Given the description of an element on the screen output the (x, y) to click on. 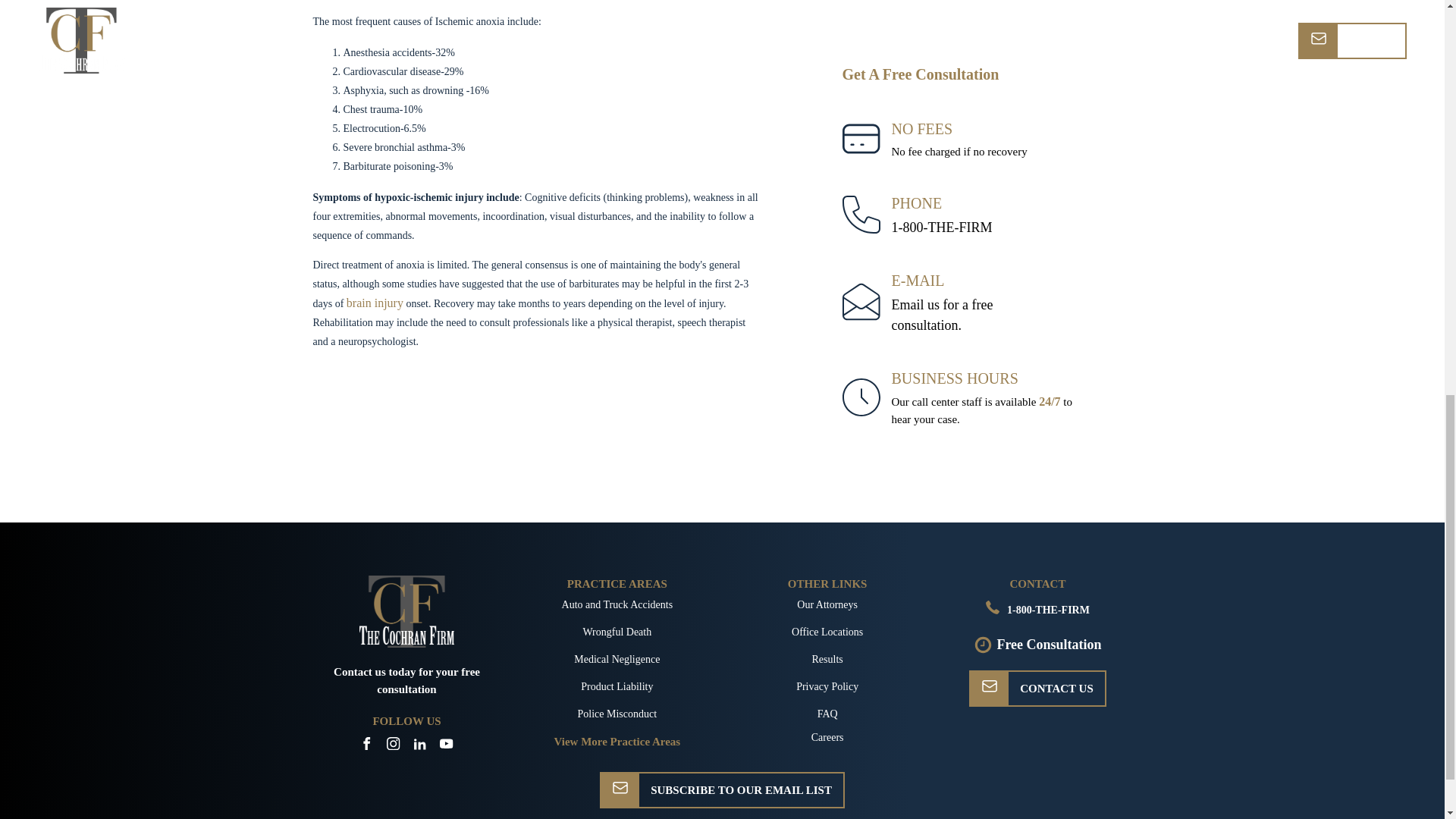
Envelope Icon (989, 686)
Phone Icon (991, 607)
1-800-THE-FIRM (941, 227)
1-800-THE-FIRM (941, 227)
Email us for a free consultation. (941, 314)
brain injury (941, 314)
Contact us today for your free consultation (374, 302)
Auto and Truck Accidents (405, 680)
